Given the description of an element on the screen output the (x, y) to click on. 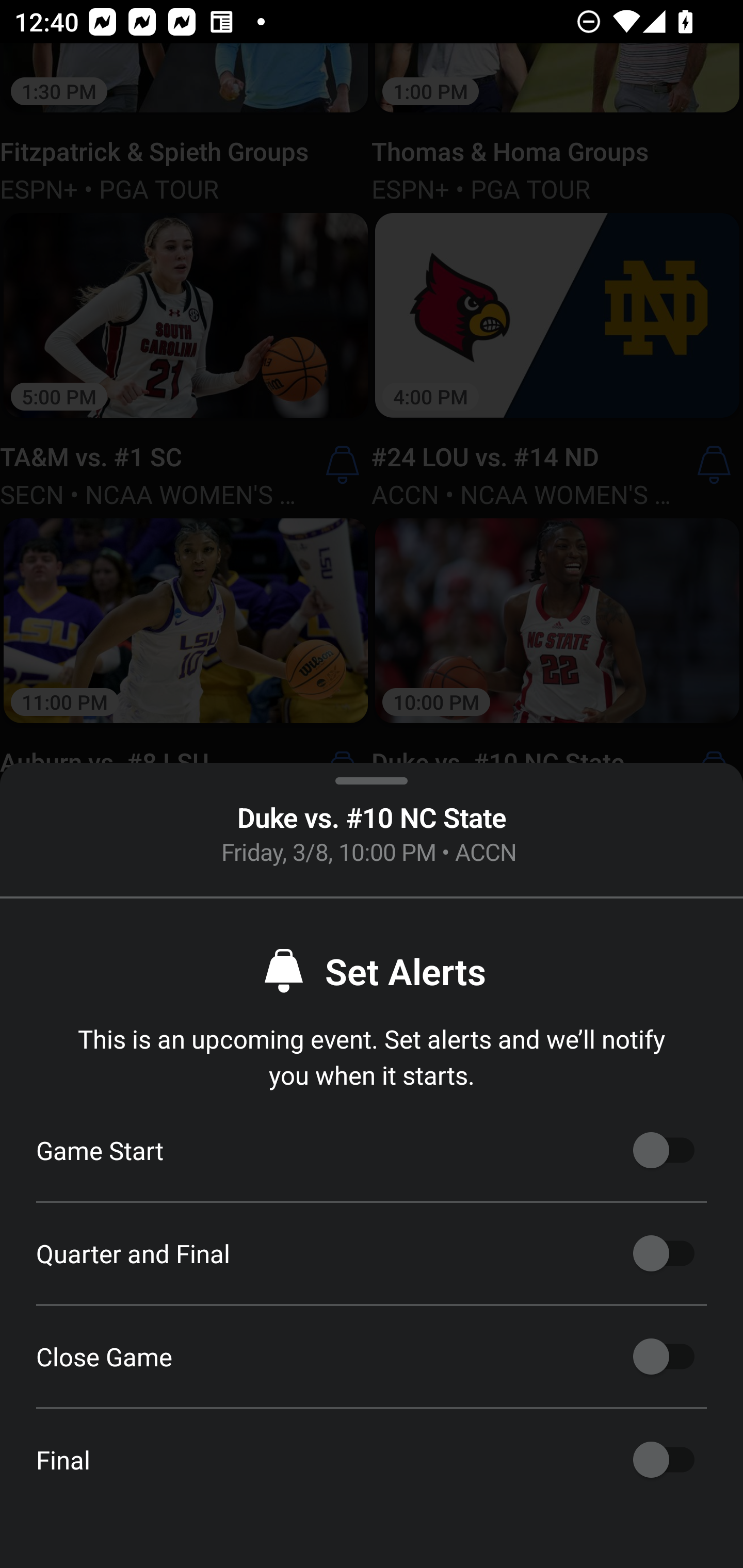
Game Start (663, 1150)
Quarter and Final (663, 1253)
Close Game (663, 1356)
Final (663, 1459)
